Given the description of an element on the screen output the (x, y) to click on. 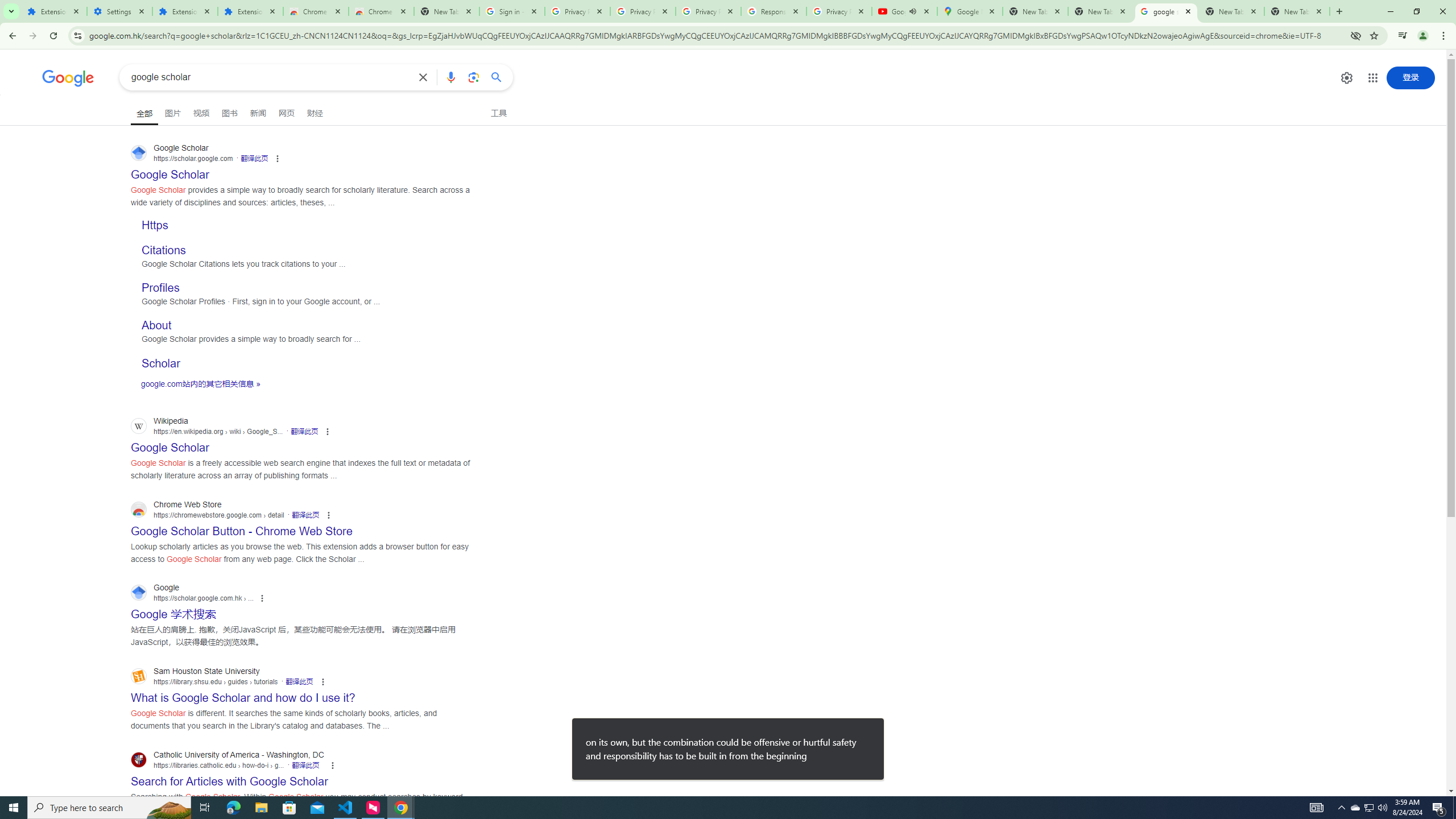
Citations (163, 249)
New Tab (1297, 11)
Extensions (250, 11)
Extensions (53, 11)
